Given the description of an element on the screen output the (x, y) to click on. 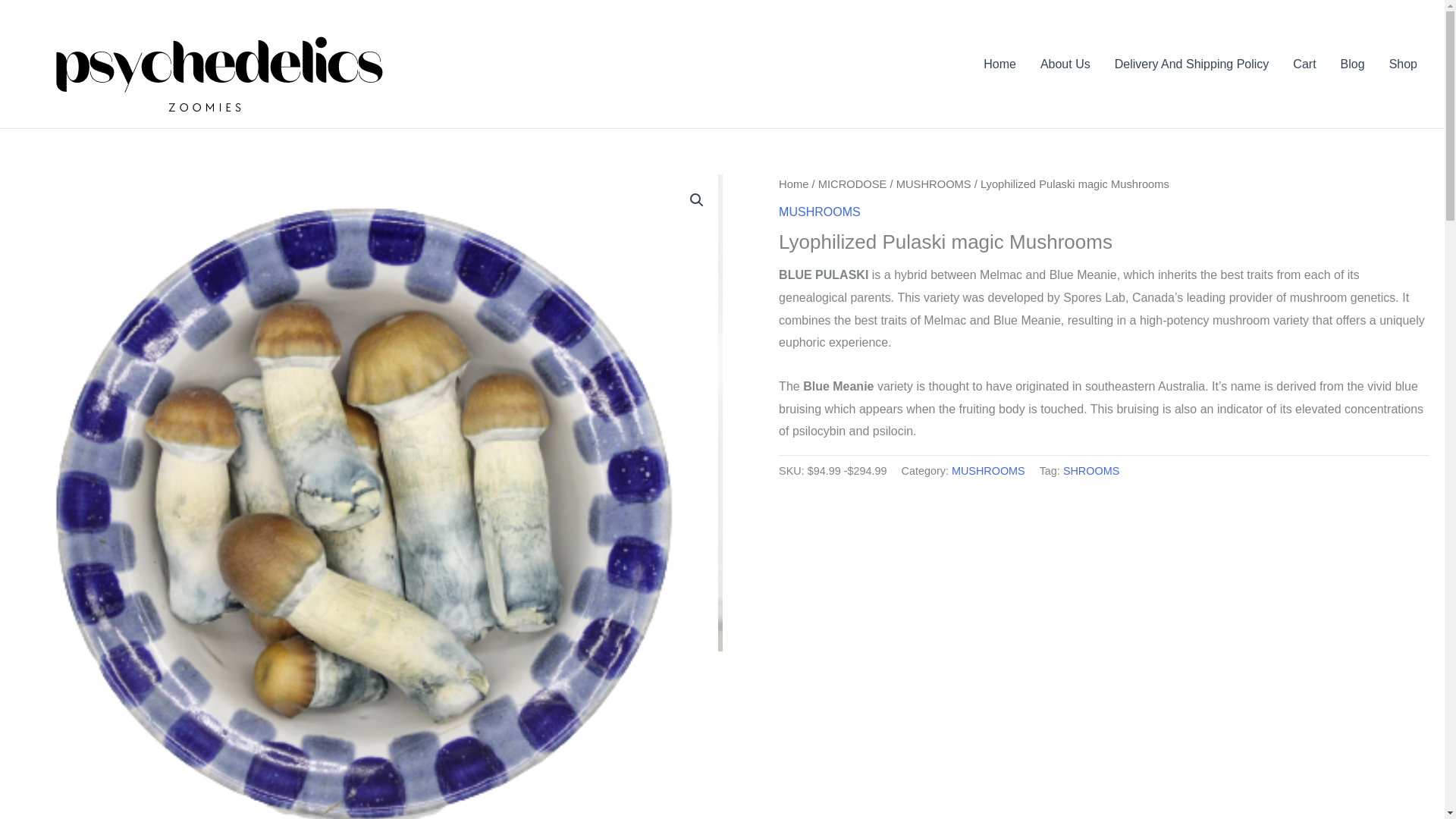
About Us (1064, 63)
Home (999, 63)
Home (793, 184)
Delivery And Shipping Policy (1191, 63)
MUSHROOMS (988, 470)
MICRODOSE (852, 184)
MUSHROOMS (819, 211)
MUSHROOMS (933, 184)
